Given the description of an element on the screen output the (x, y) to click on. 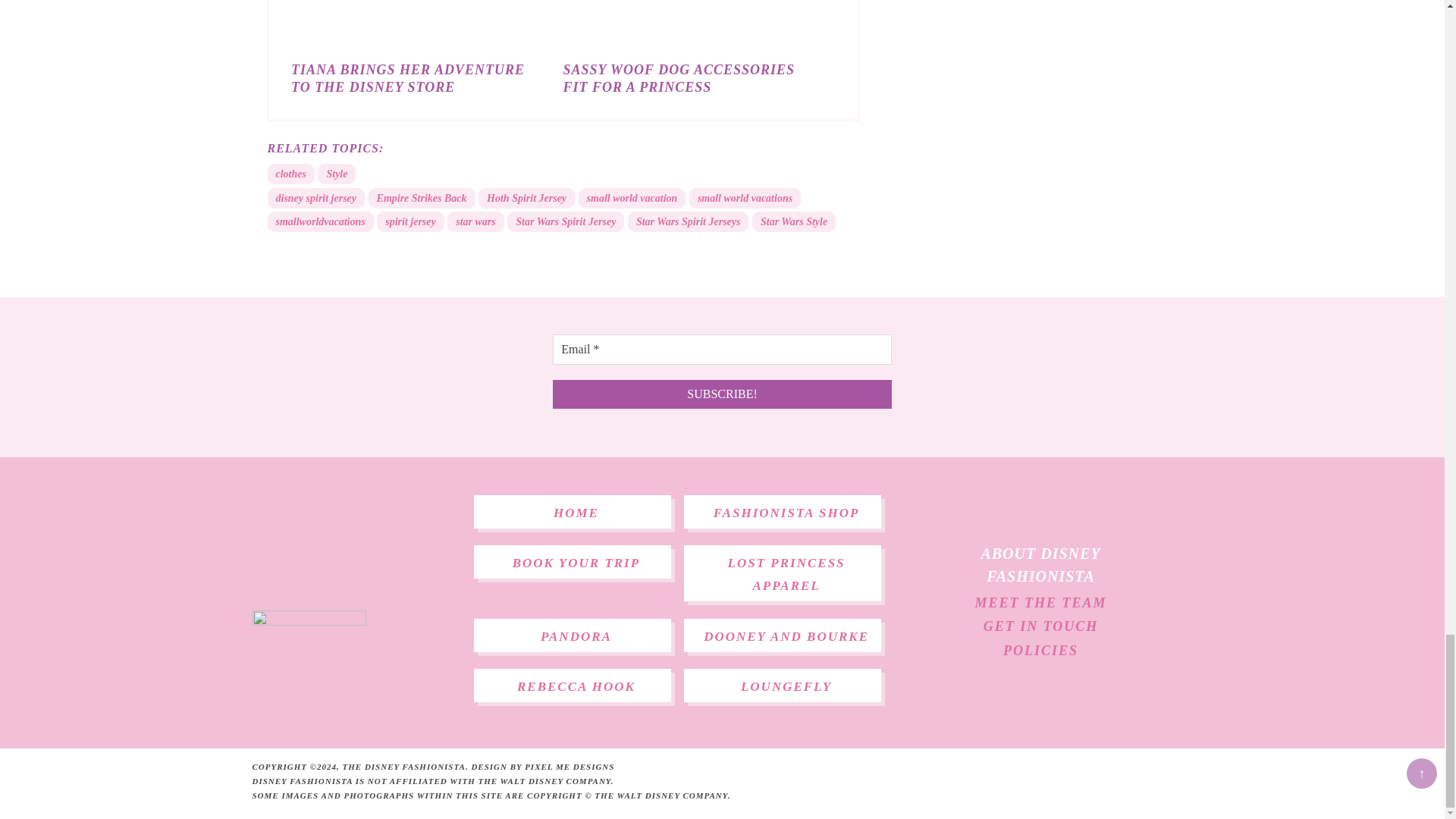
Subscribe! (722, 394)
